Given the description of an element on the screen output the (x, y) to click on. 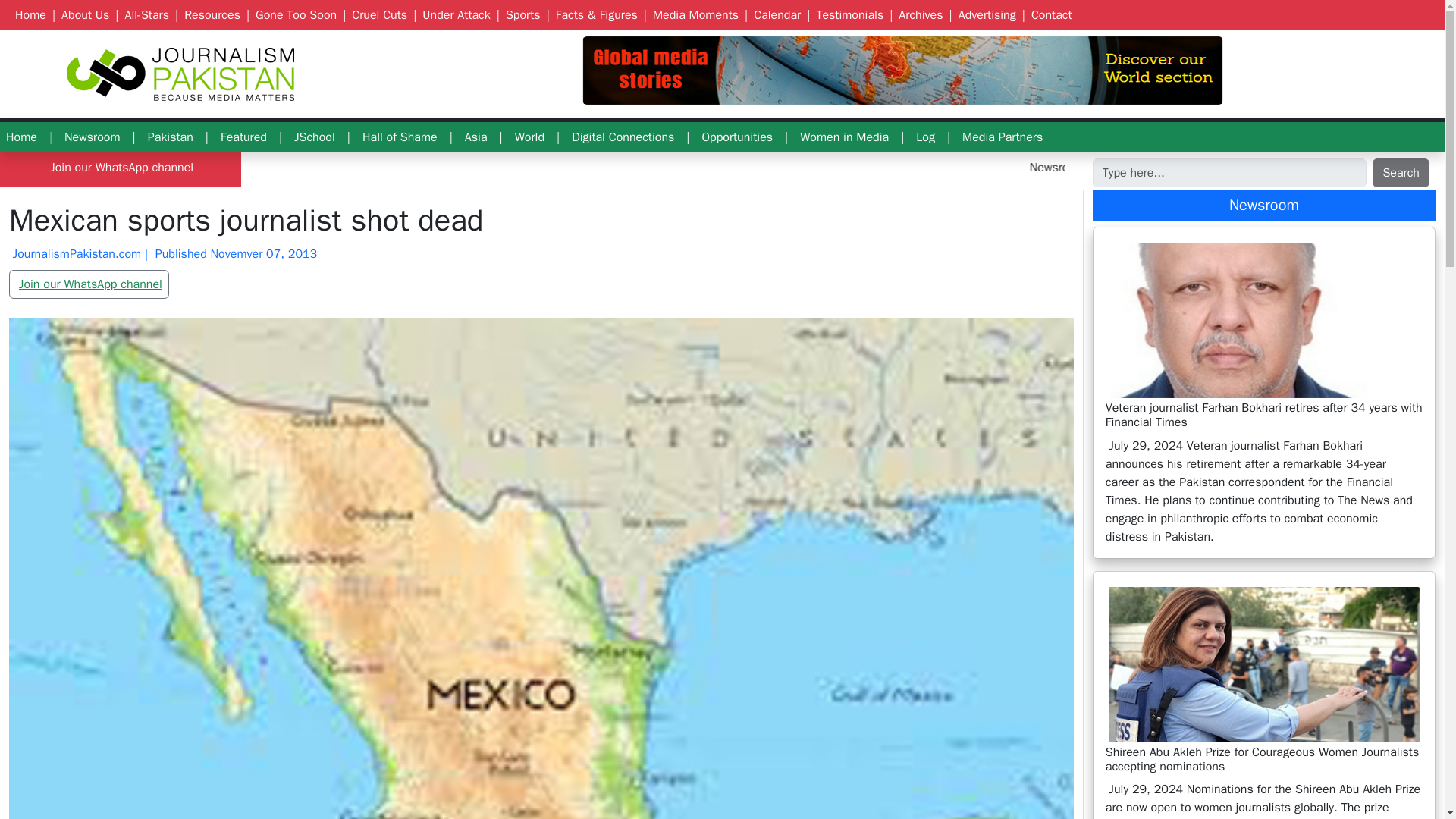
Featured (243, 137)
Archives (917, 14)
About Us (82, 14)
Home (21, 137)
Media Moments (692, 14)
World (902, 70)
Under Attack (452, 14)
Advertising (984, 14)
Resources (208, 14)
Gone Too Soon (292, 14)
Testimonials (846, 14)
Sports (519, 14)
Cruel Cuts (376, 14)
Pakistan (170, 137)
Calendar (774, 14)
